Given the description of an element on the screen output the (x, y) to click on. 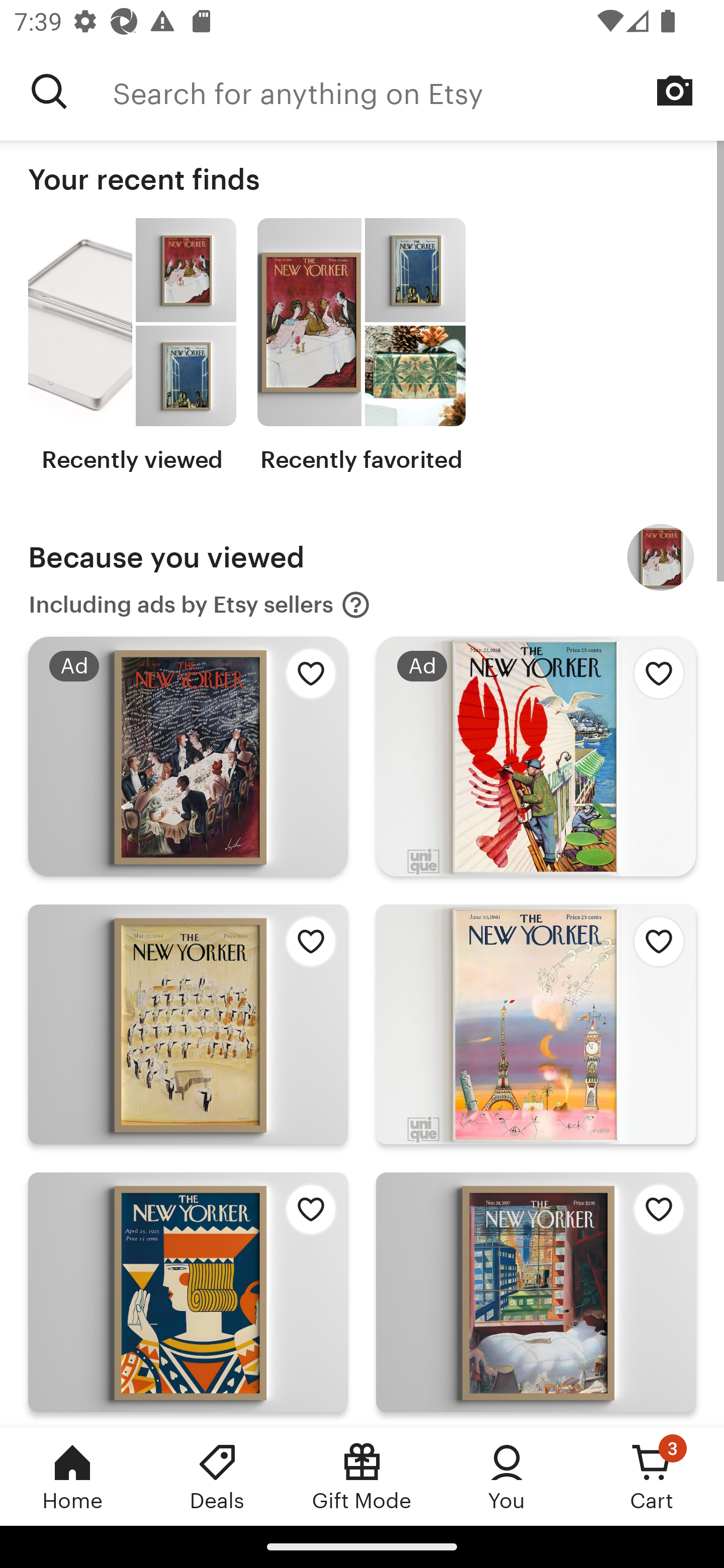
Search for anything on Etsy (49, 91)
Search by image (674, 90)
Search for anything on Etsy (418, 91)
Recently viewed (132, 345)
Recently favorited (361, 345)
Including ads by Etsy sellers (199, 604)
Deals (216, 1475)
Gift Mode (361, 1475)
You (506, 1475)
Cart, 3 new notifications Cart (651, 1475)
